Given the description of an element on the screen output the (x, y) to click on. 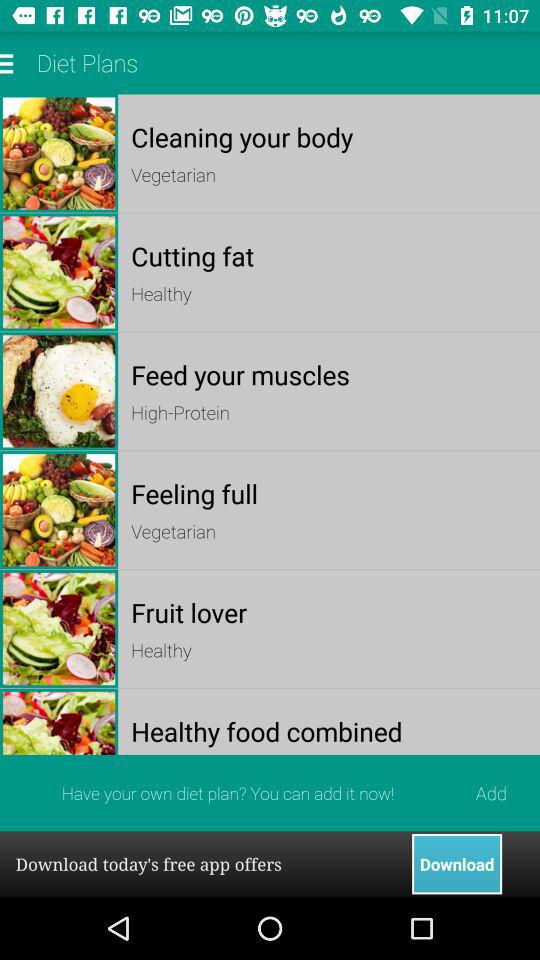
flip until the fruit lover item (328, 612)
